Given the description of an element on the screen output the (x, y) to click on. 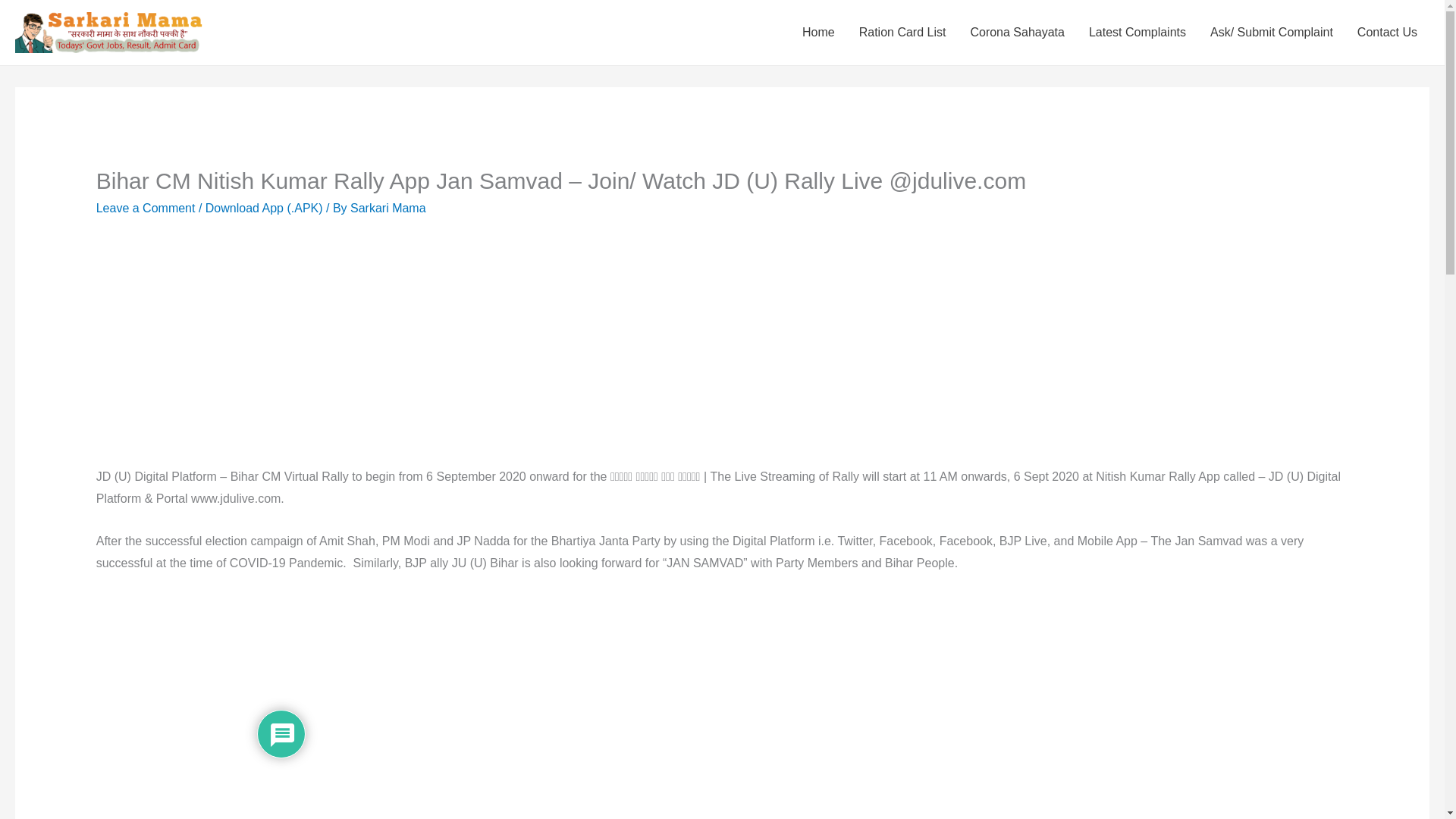
Corona Sahayata (1017, 32)
Contact Us (1387, 32)
Latest Complaints (1137, 32)
Ration Card List (902, 32)
Sarkari Mama (388, 207)
Leave a Comment (145, 207)
View all posts by Sarkari Mama (388, 207)
